Given the description of an element on the screen output the (x, y) to click on. 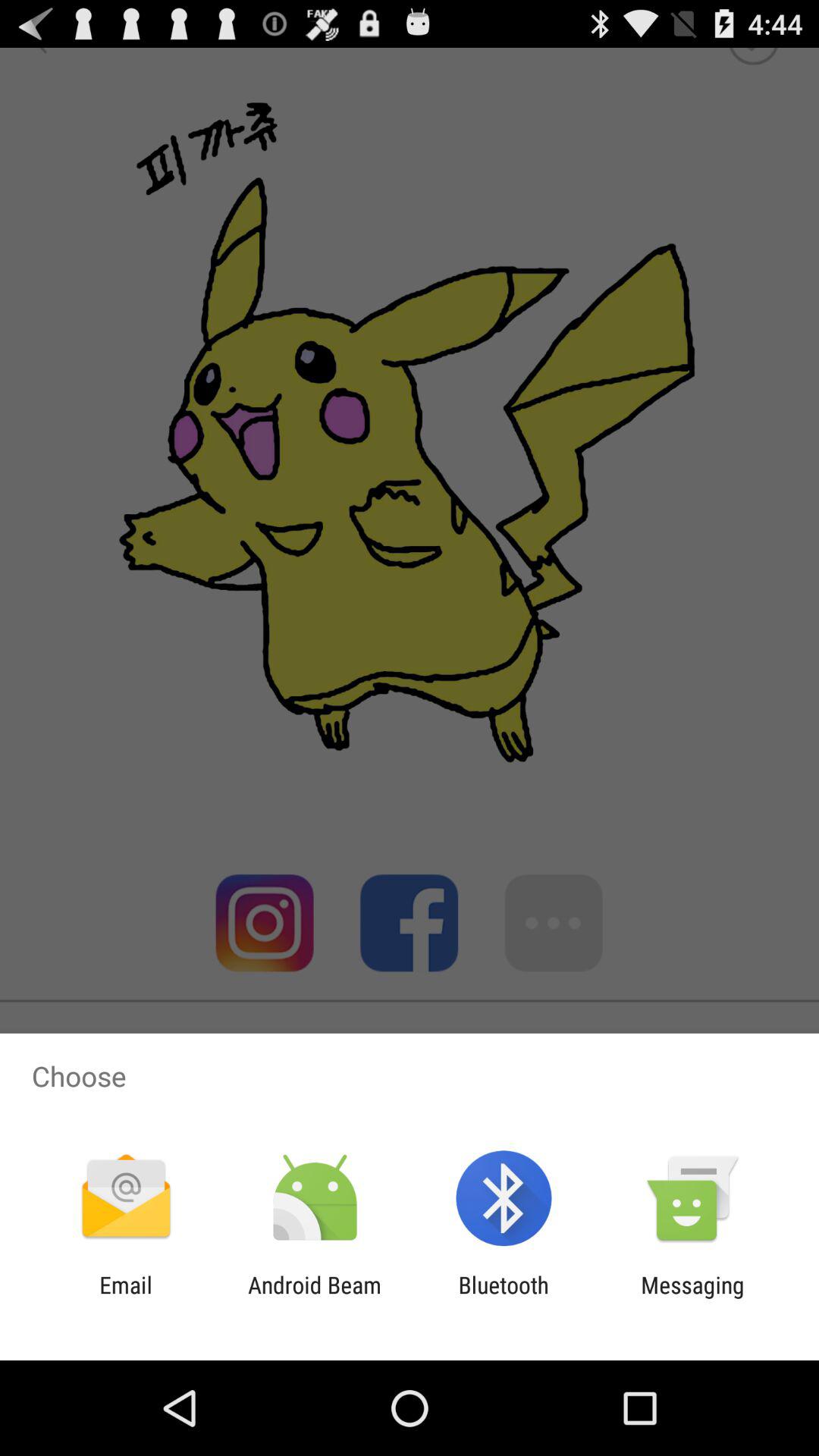
turn off email (125, 1298)
